Given the description of an element on the screen output the (x, y) to click on. 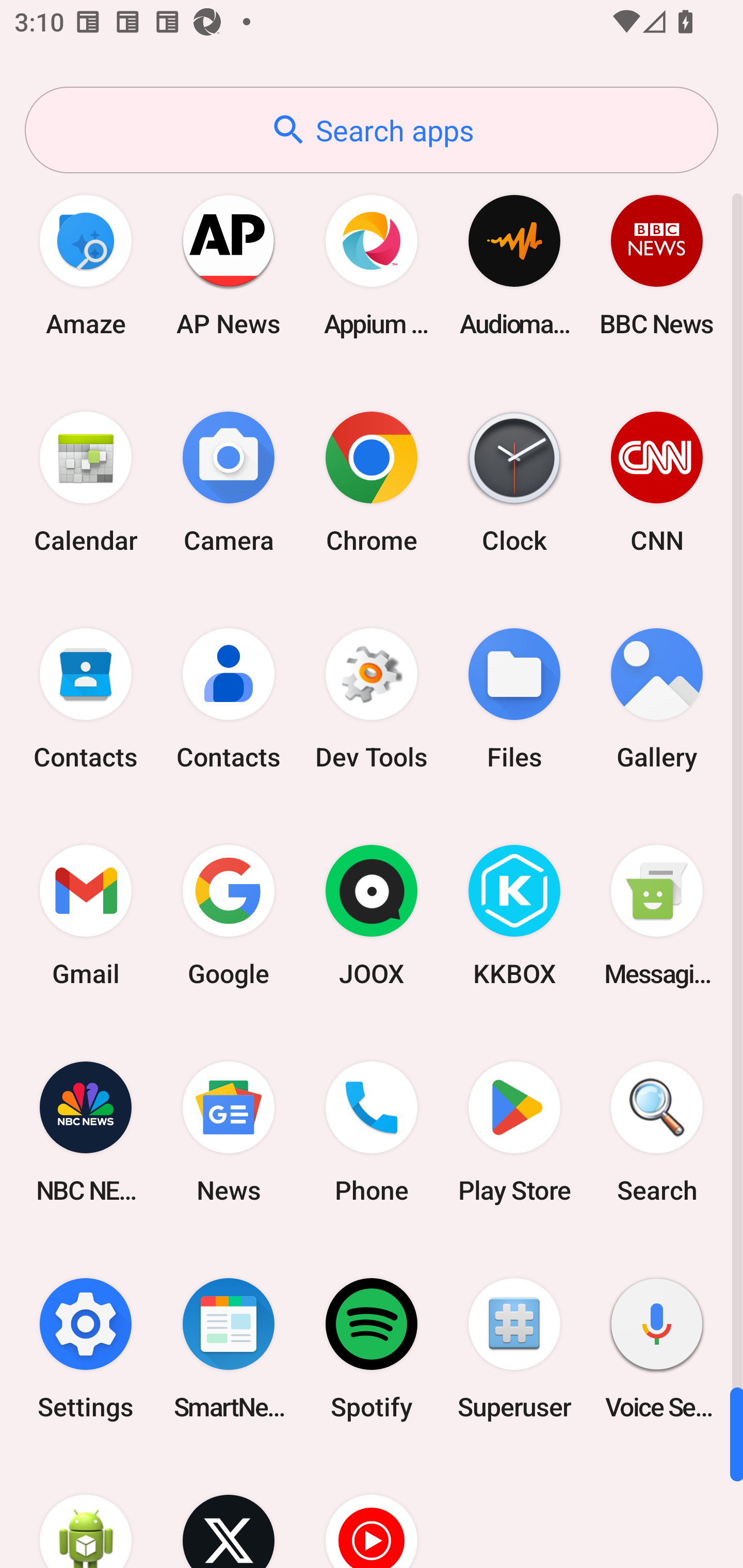
  Search apps (371, 130)
Amaze (85, 264)
AP News (228, 264)
Appium Settings (371, 264)
Audio­mack (514, 264)
BBC News (656, 264)
Calendar (85, 482)
Camera (228, 482)
Chrome (371, 482)
Clock (514, 482)
CNN (656, 482)
Contacts (85, 699)
Contacts (228, 699)
Dev Tools (371, 699)
Files (514, 699)
Gallery (656, 699)
Gmail (85, 915)
Google (228, 915)
JOOX (371, 915)
KKBOX (514, 915)
Messaging (656, 915)
NBC NEWS (85, 1131)
News (228, 1131)
Phone (371, 1131)
Play Store (514, 1131)
Search (656, 1131)
Settings (85, 1348)
SmartNews (228, 1348)
Spotify (371, 1348)
Superuser (514, 1348)
Voice Search (656, 1348)
WebView Browser Tester (85, 1512)
X (228, 1512)
YT Music (371, 1512)
